Given the description of an element on the screen output the (x, y) to click on. 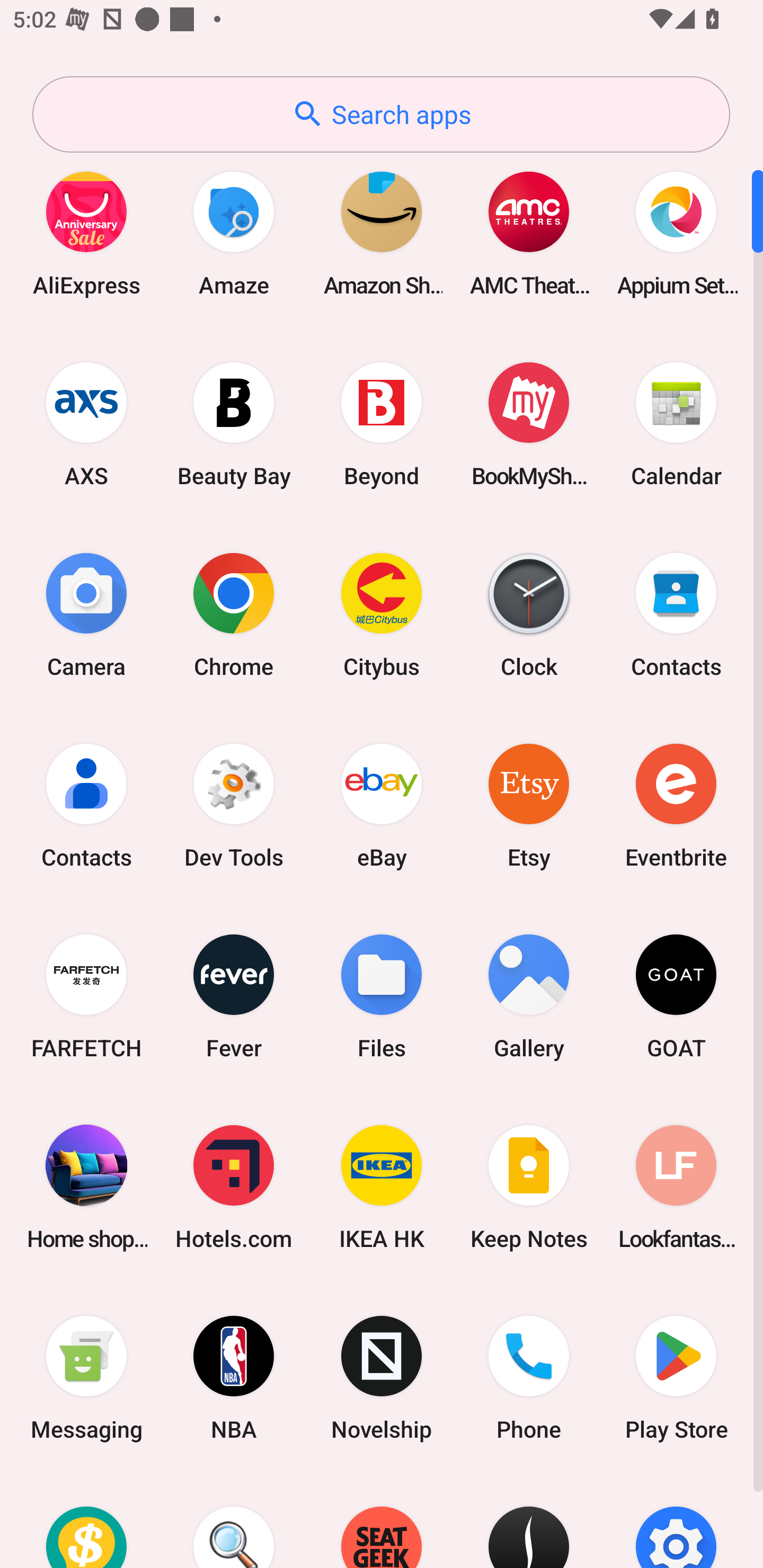
  Search apps (381, 114)
AliExpress (86, 233)
Amaze (233, 233)
Amazon Shopping (381, 233)
AMC Theatres (528, 233)
Appium Settings (676, 233)
AXS (86, 424)
Beauty Bay (233, 424)
Beyond (381, 424)
BookMyShow (528, 424)
Calendar (676, 424)
Camera (86, 614)
Chrome (233, 614)
Citybus (381, 614)
Clock (528, 614)
Contacts (676, 614)
Contacts (86, 805)
Dev Tools (233, 805)
eBay (381, 805)
Etsy (528, 805)
Eventbrite (676, 805)
FARFETCH (86, 996)
Fever (233, 996)
Files (381, 996)
Gallery (528, 996)
GOAT (676, 996)
Home shopping (86, 1186)
Hotels.com (233, 1186)
IKEA HK (381, 1186)
Keep Notes (528, 1186)
Lookfantastic (676, 1186)
Messaging (86, 1377)
NBA (233, 1377)
Novelship (381, 1377)
Phone (528, 1377)
Play Store (676, 1377)
Price (86, 1520)
Search (233, 1520)
SeatGeek (381, 1520)
Sephora (528, 1520)
Settings (676, 1520)
